Given the description of an element on the screen output the (x, y) to click on. 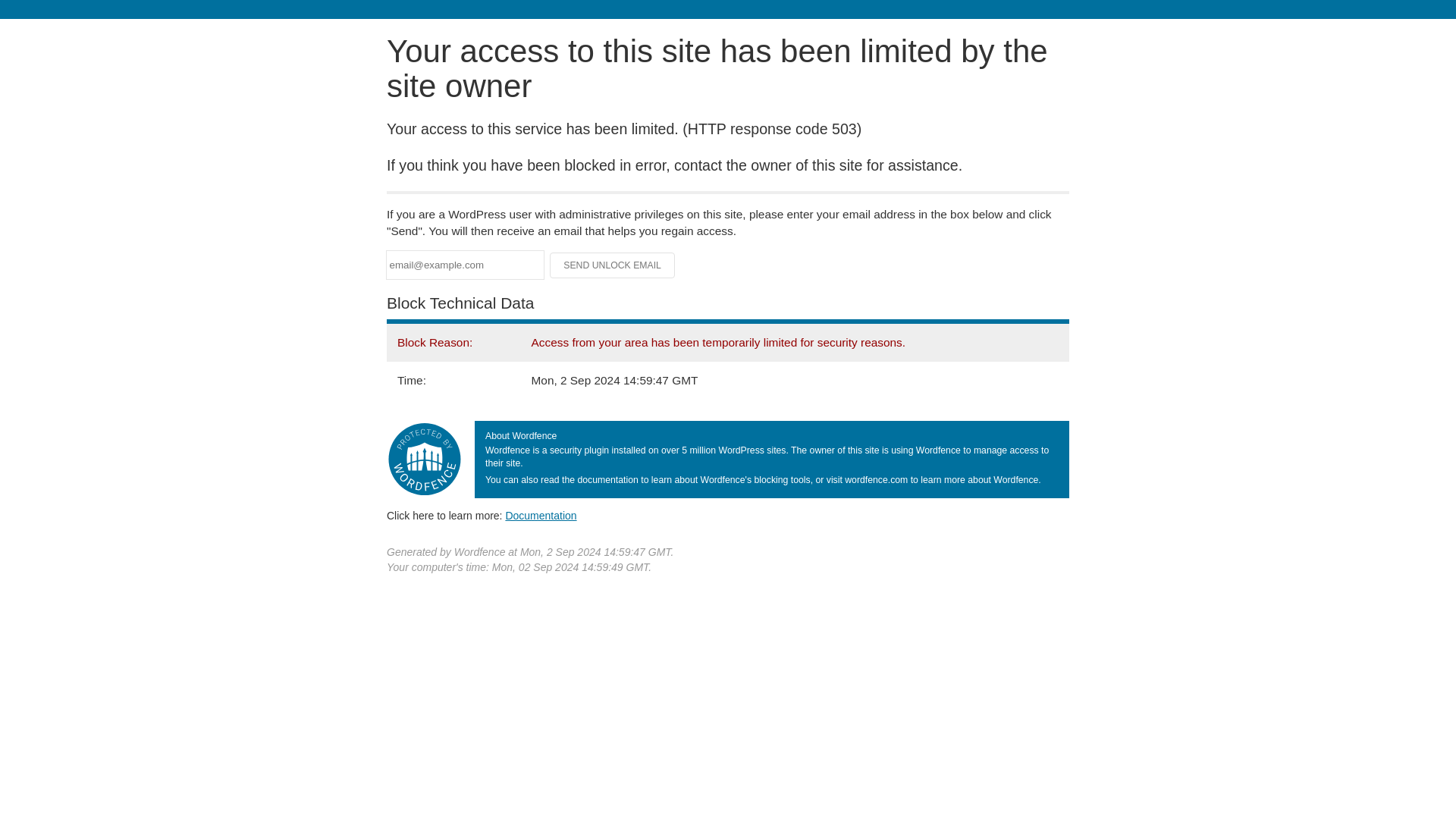
Documentation (540, 515)
Send Unlock Email (612, 265)
Send Unlock Email (612, 265)
